Given the description of an element on the screen output the (x, y) to click on. 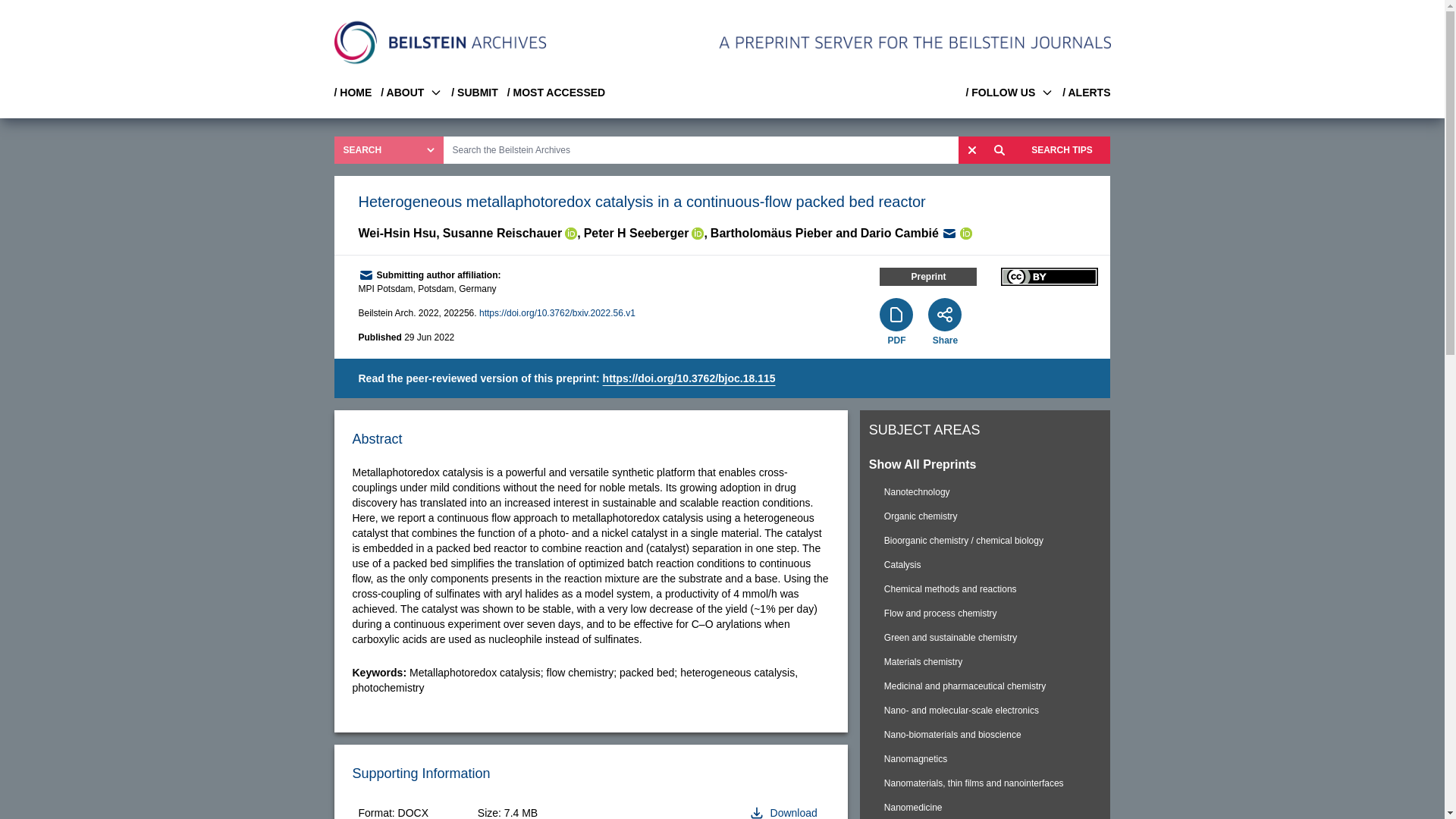
Show All Preprints (985, 464)
PDF (895, 340)
Share (944, 340)
Nanotechnology (985, 491)
Clear (971, 149)
search (999, 149)
Search (999, 149)
Search Tips (1061, 149)
SEARCH TIPS (1061, 149)
